Given the description of an element on the screen output the (x, y) to click on. 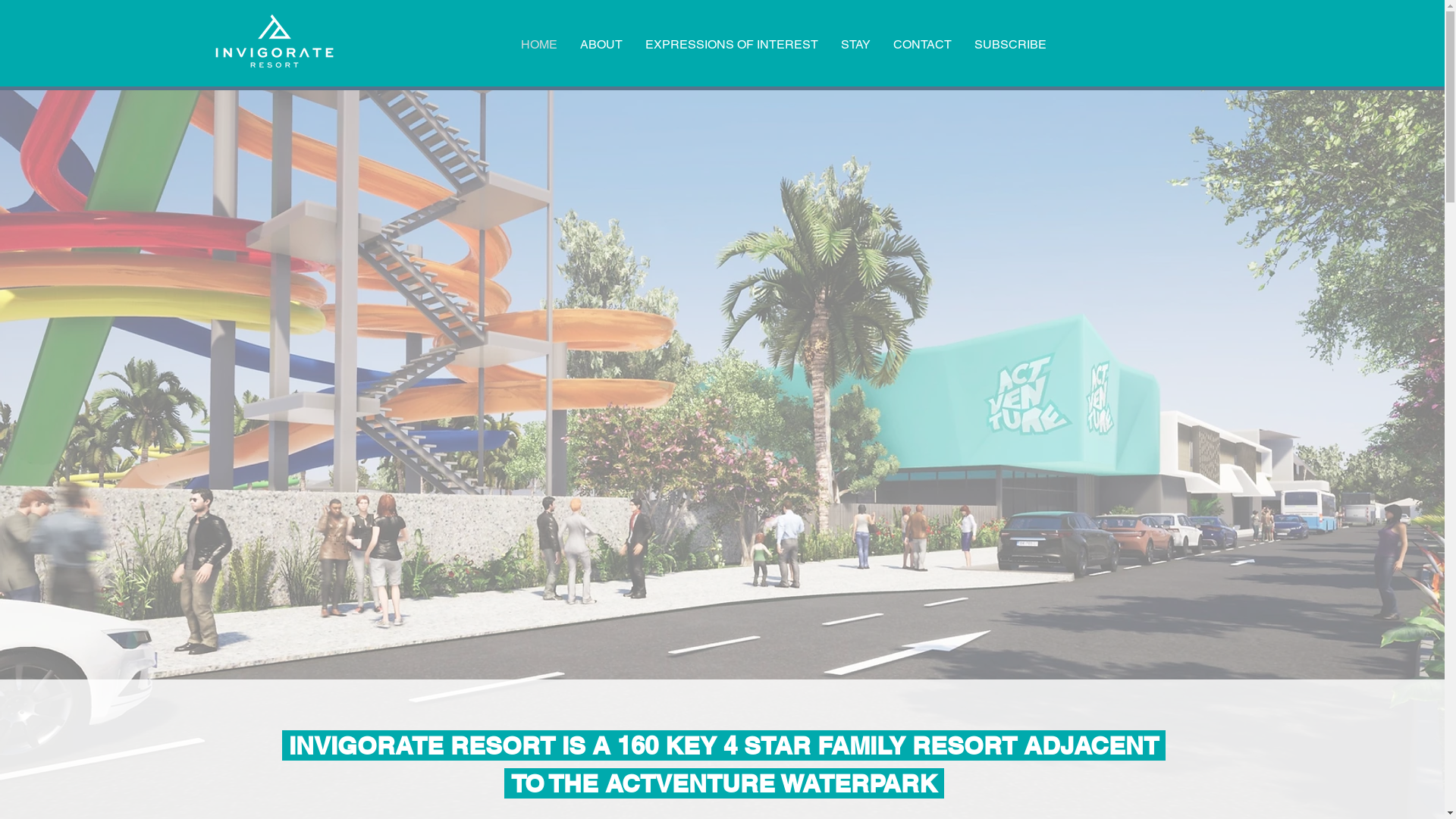
CONTACT Element type: text (921, 44)
EXPRESSIONS OF INTEREST Element type: text (731, 44)
ABOUT Element type: text (600, 44)
SUBSCRIBE Element type: text (1010, 44)
HOME Element type: text (538, 44)
STAY Element type: text (855, 44)
